Given the description of an element on the screen output the (x, y) to click on. 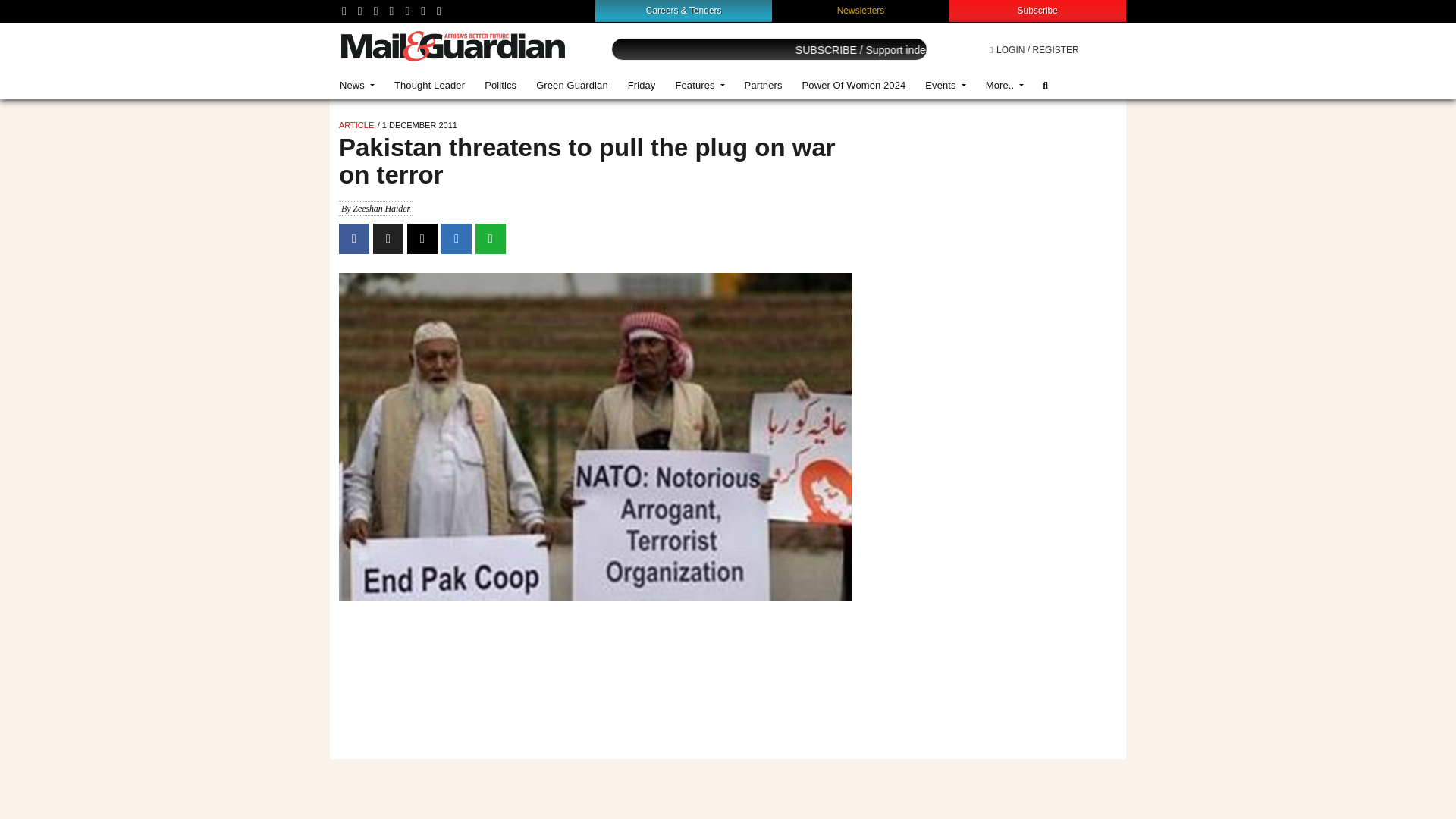
Subscribe (1037, 9)
Green Guardian (571, 85)
Thought Leader (429, 85)
Newsletters (861, 9)
Features (699, 85)
News (357, 85)
News (357, 85)
Friday (641, 85)
Politics (499, 85)
